Given the description of an element on the screen output the (x, y) to click on. 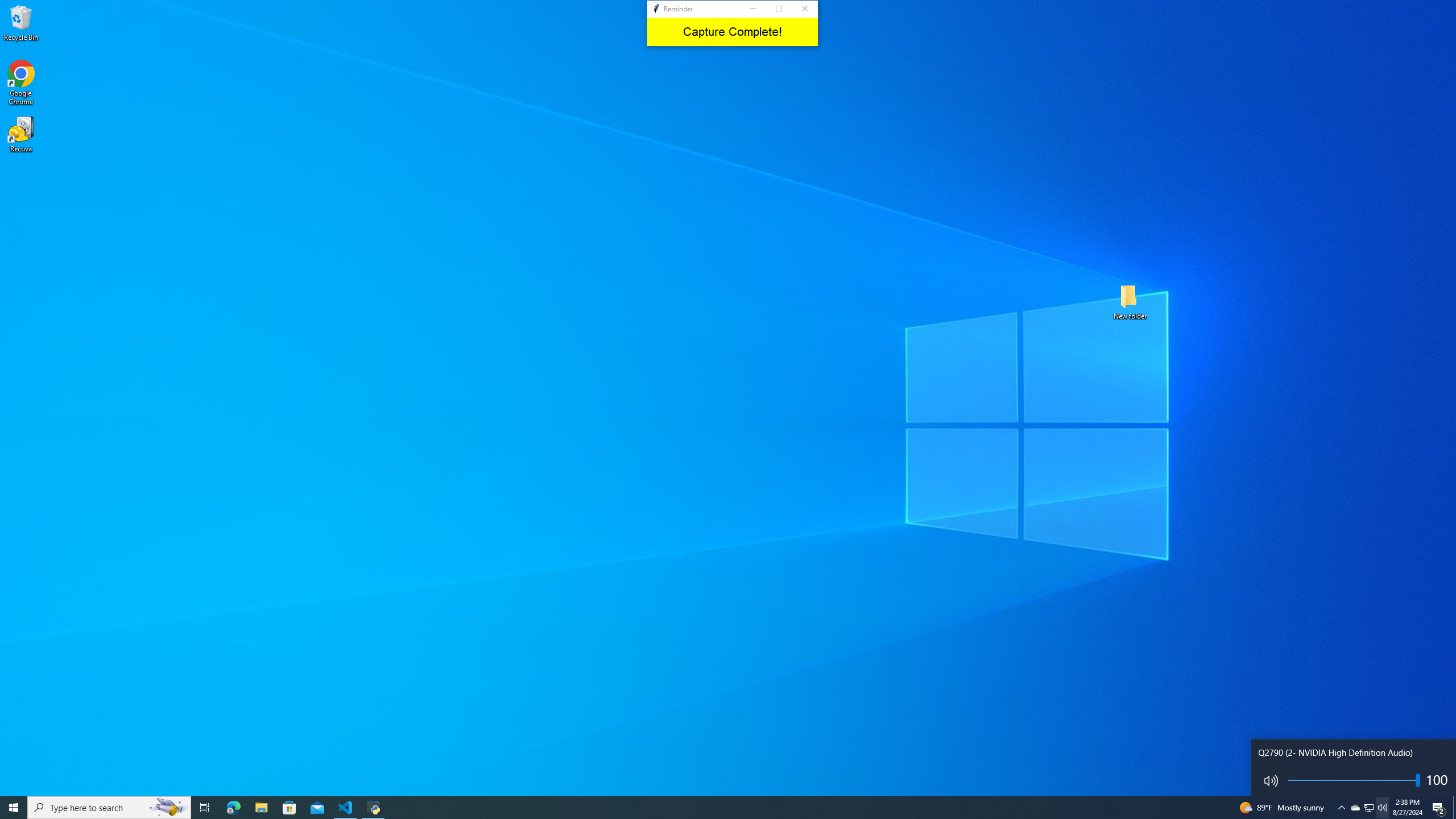
Volume (1353, 782)
Q2790 (2- NVIDIA High Definition Audio) (1353, 767)
